Given the description of an element on the screen output the (x, y) to click on. 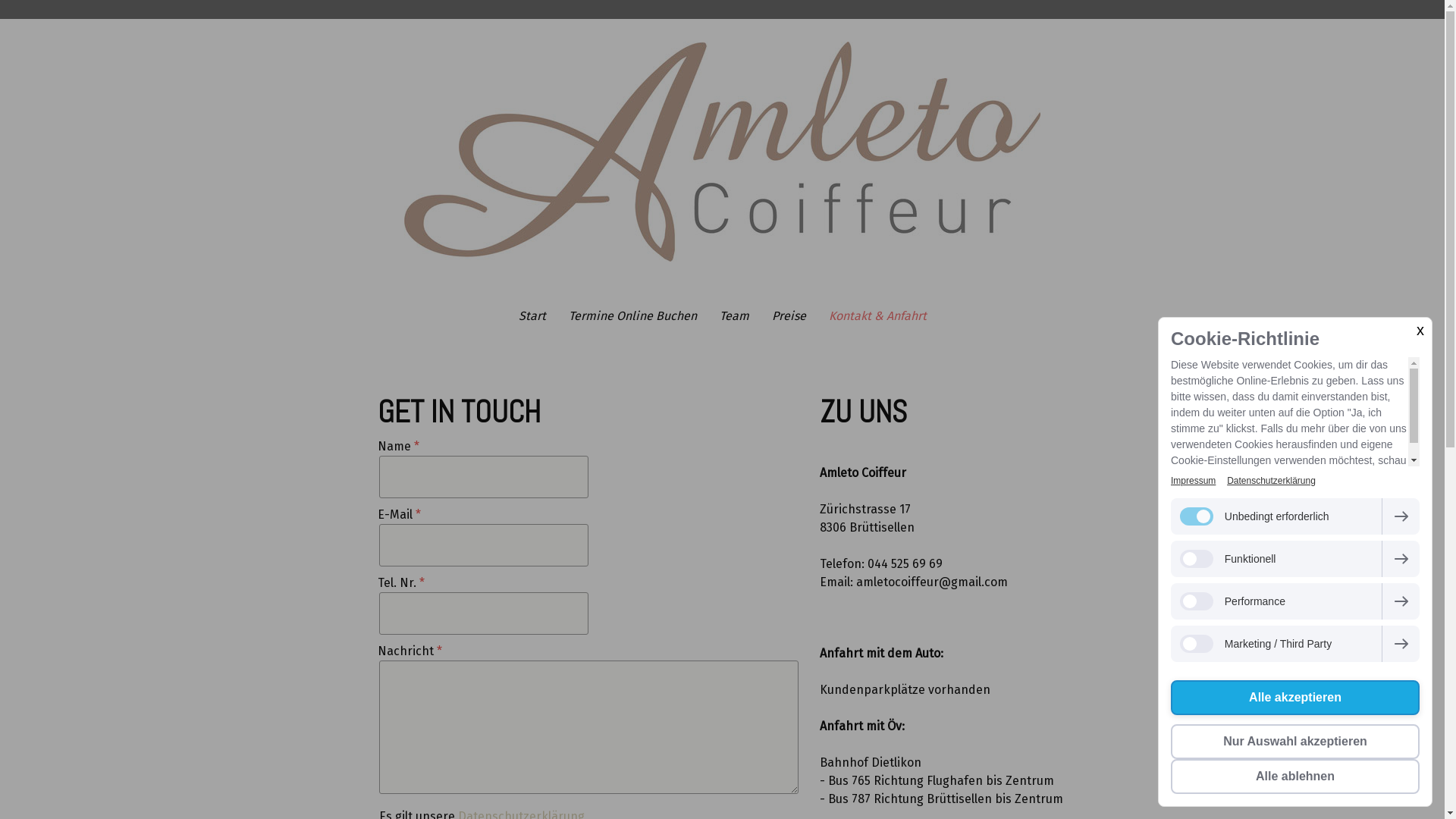
Kontakt & Anfahrt Element type: text (877, 315)
Start Element type: text (531, 315)
Nur Auswahl akzeptieren Element type: text (1294, 741)
Alle akzeptieren Element type: text (1294, 697)
Termine Online Buchen Element type: text (631, 315)
Alle ablehnen Element type: text (1294, 776)
Team Element type: text (734, 315)
Preise Element type: text (787, 315)
Impressum Element type: text (1192, 480)
